Given the description of an element on the screen output the (x, y) to click on. 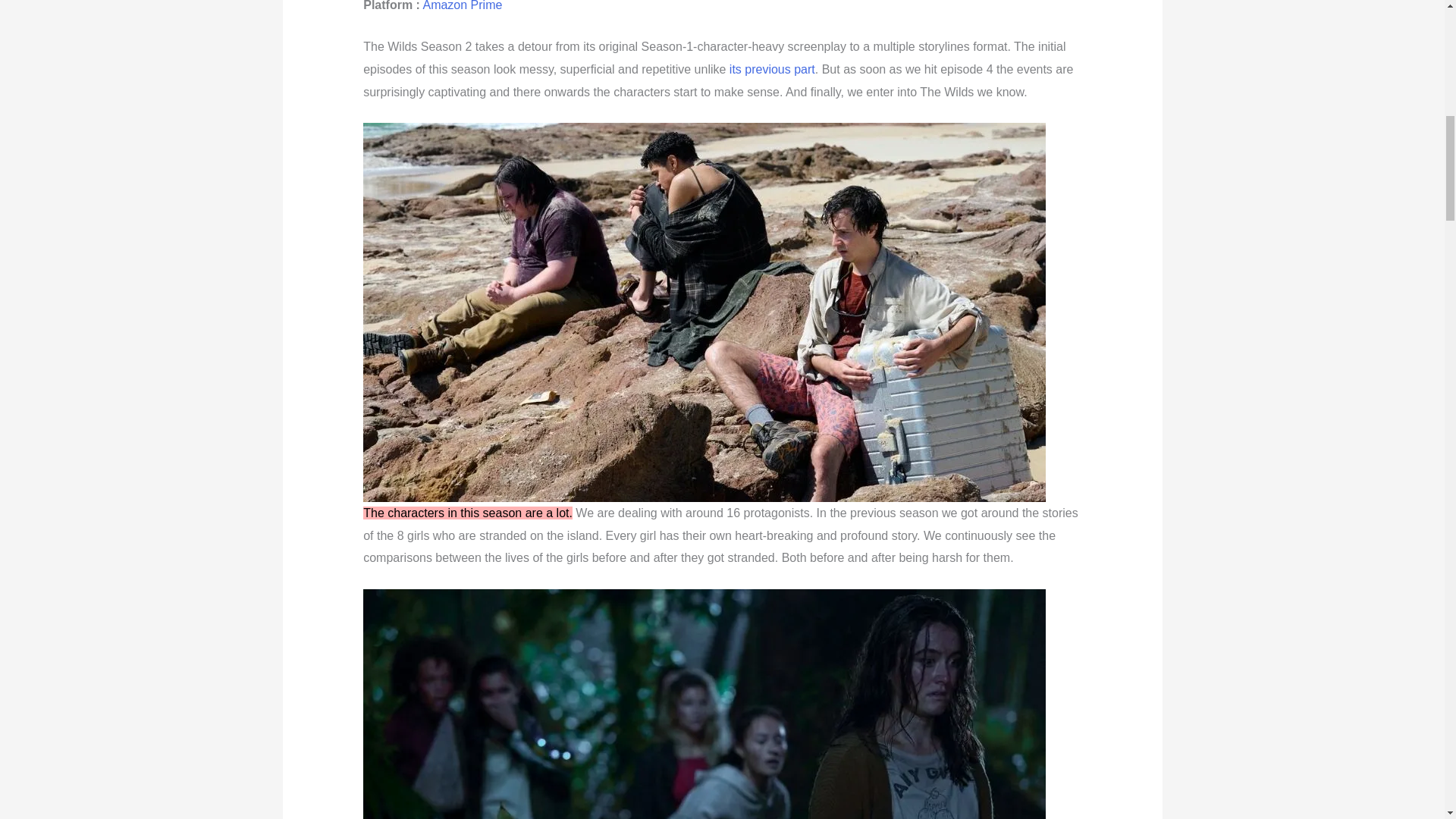
its previous part (772, 69)
Amazon Prime (462, 5)
